Given the description of an element on the screen output the (x, y) to click on. 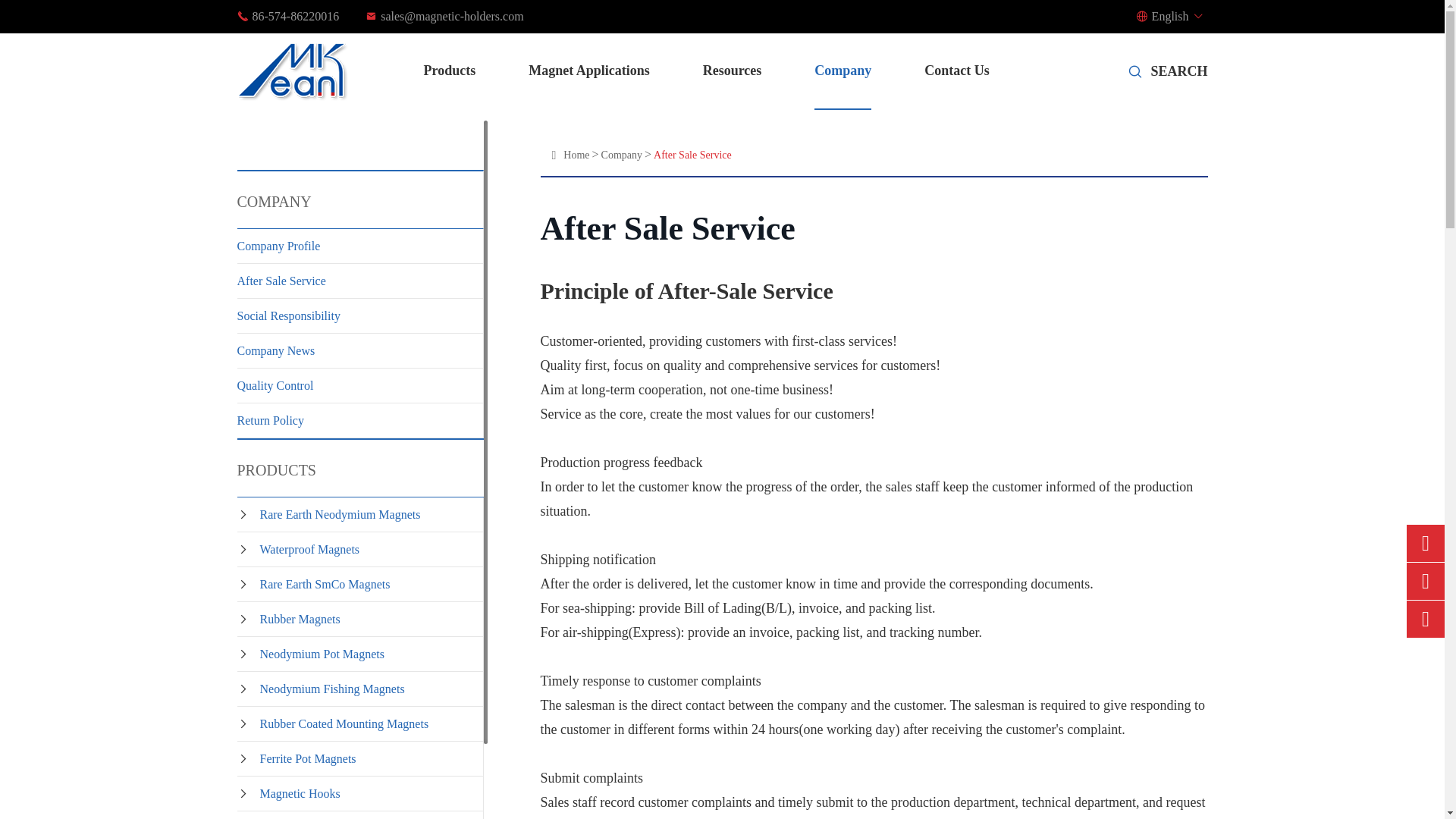
Company (621, 155)
After Sale Service (692, 155)
